Given the description of an element on the screen output the (x, y) to click on. 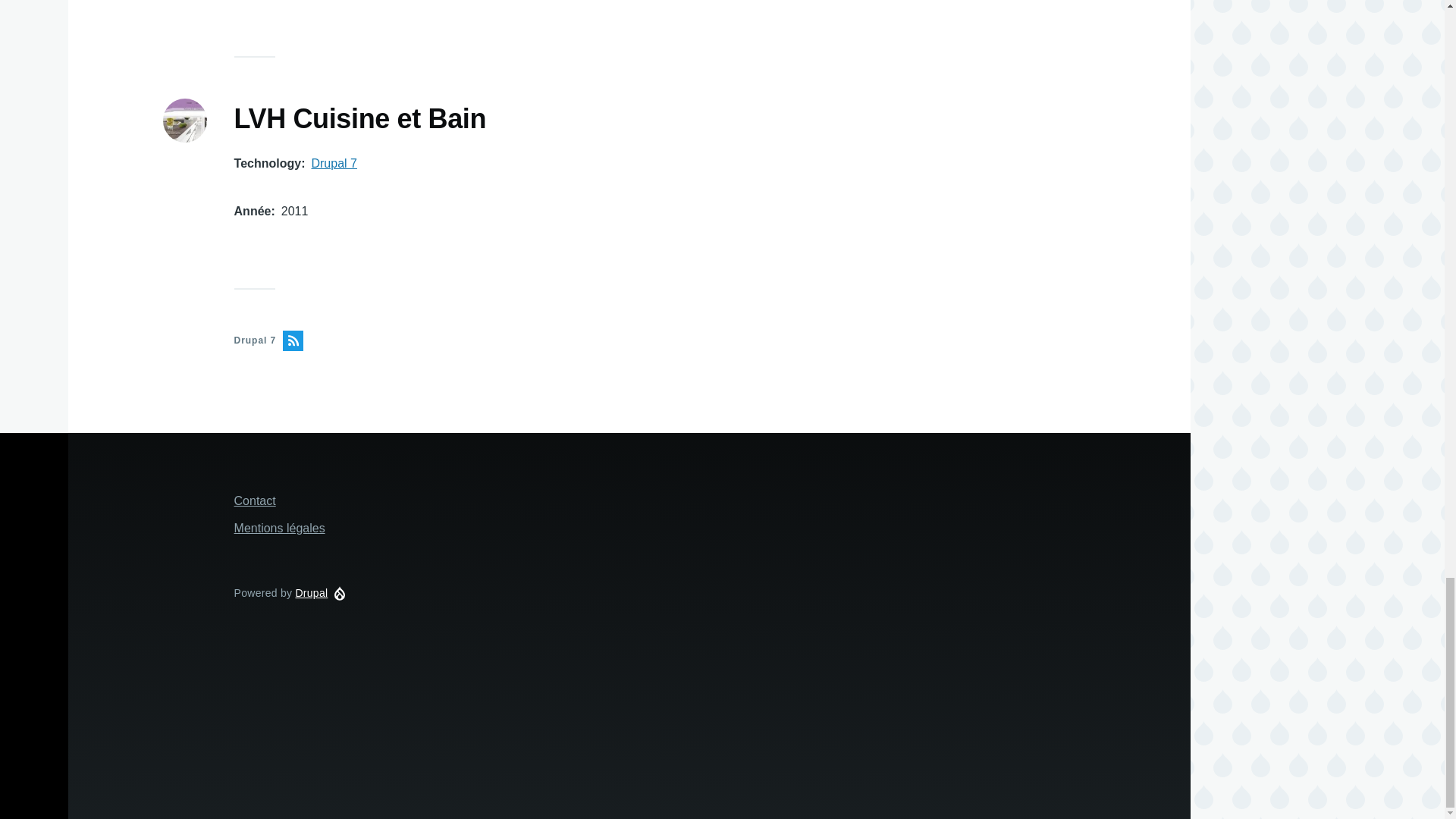
LVH Cuisine et Bain (360, 119)
Drupal 7 (510, 340)
Drupal 7 (333, 163)
